Given the description of an element on the screen output the (x, y) to click on. 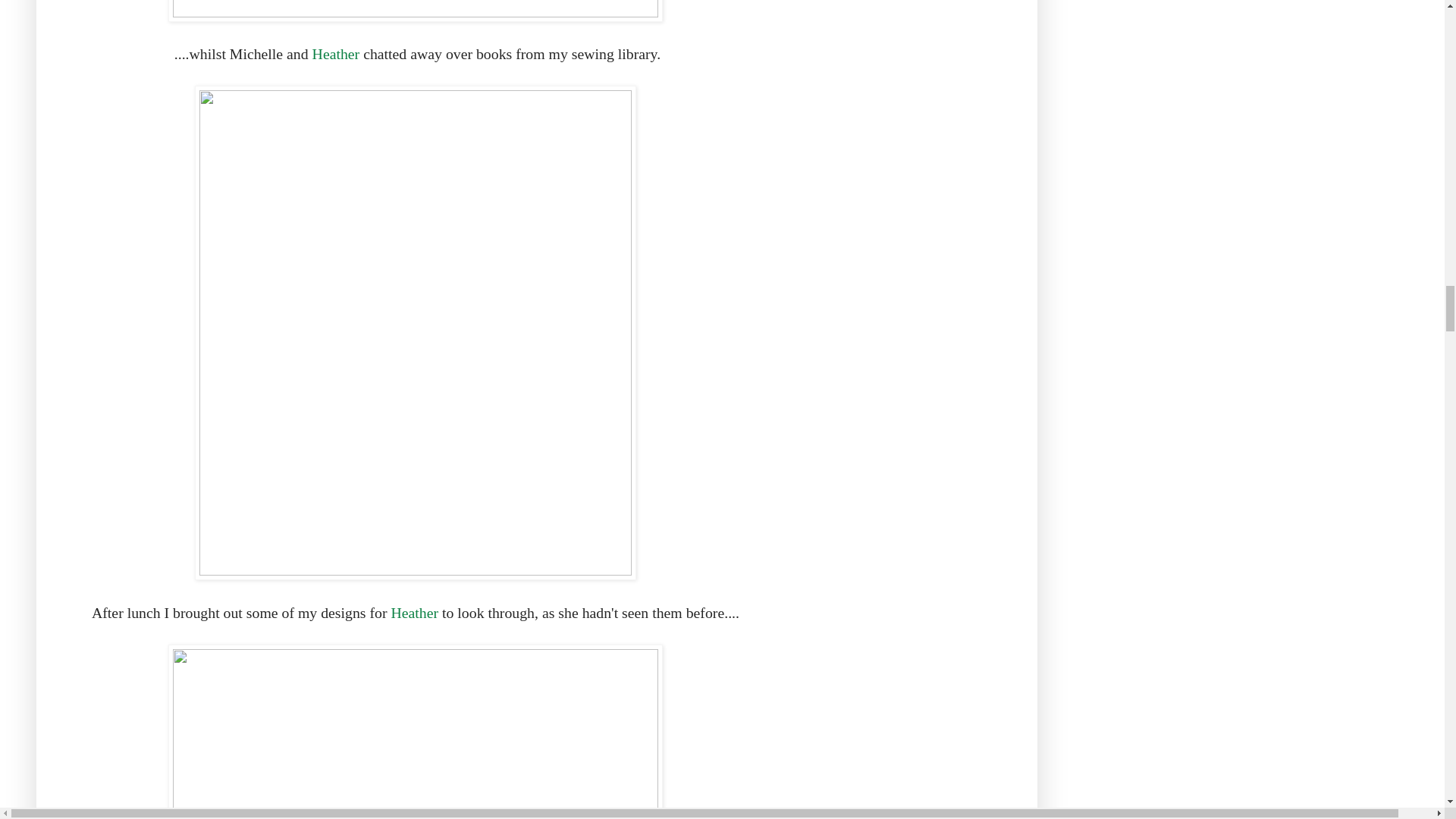
Heather (338, 53)
Heather (414, 612)
